Given the description of an element on the screen output the (x, y) to click on. 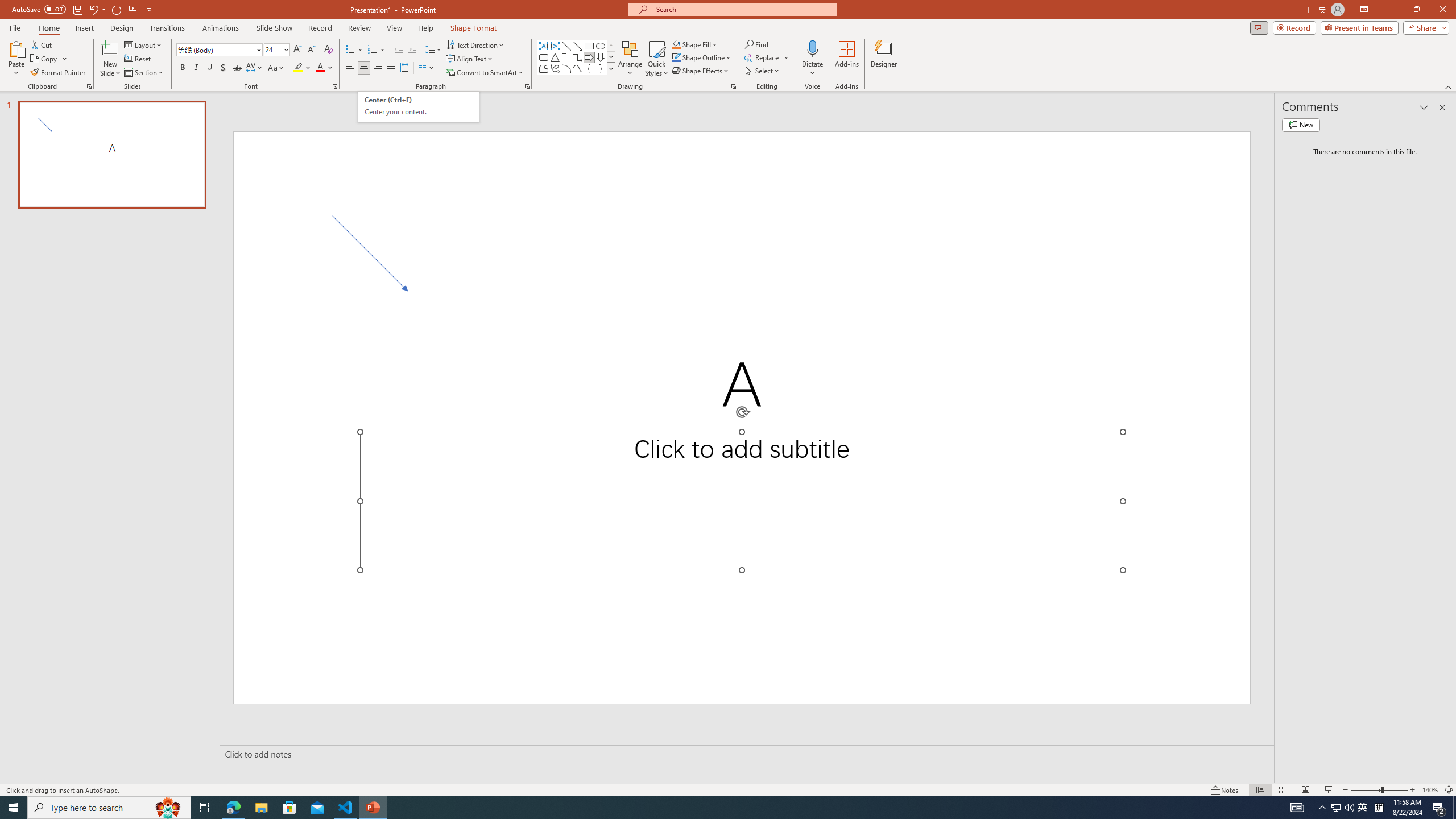
Zoom 140% (1430, 790)
New comment (1300, 124)
